Given the description of an element on the screen output the (x, y) to click on. 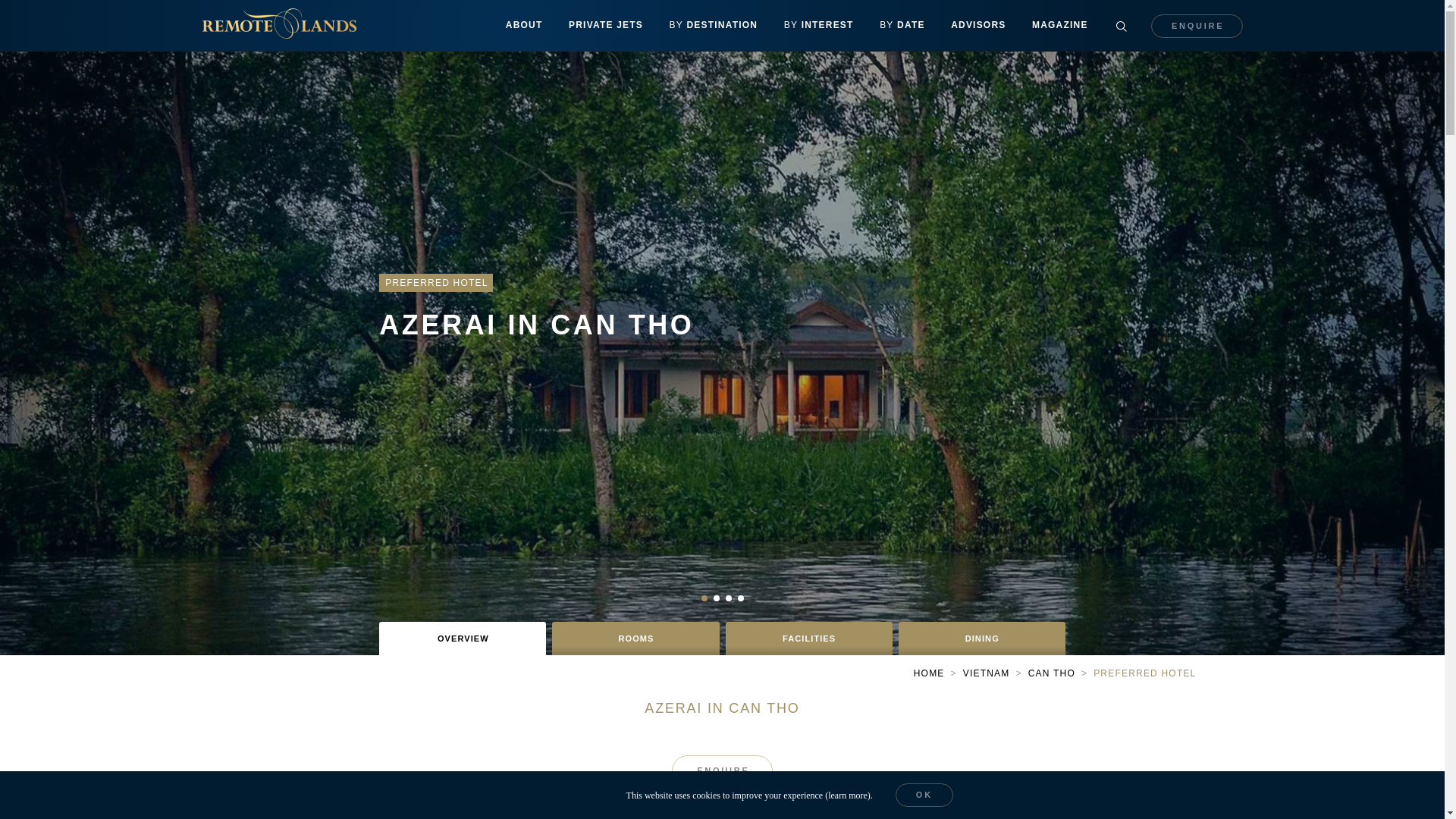
BY DESTINATION (713, 25)
ABOUT (524, 25)
ENQUIRE (1197, 24)
PRIVATE JETS (606, 25)
